Given the description of an element on the screen output the (x, y) to click on. 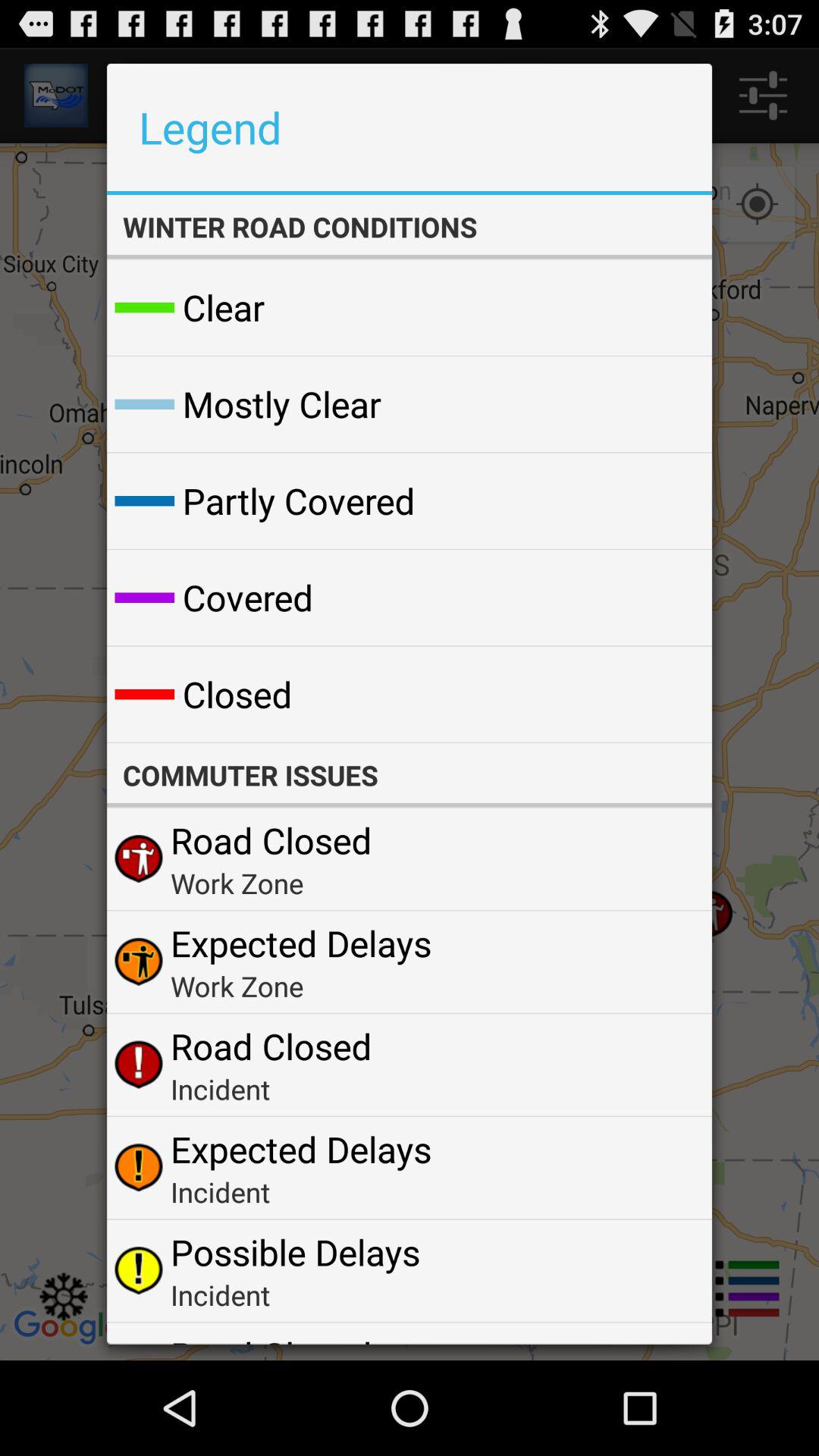
turn on icon next to closed app (664, 694)
